Given the description of an element on the screen output the (x, y) to click on. 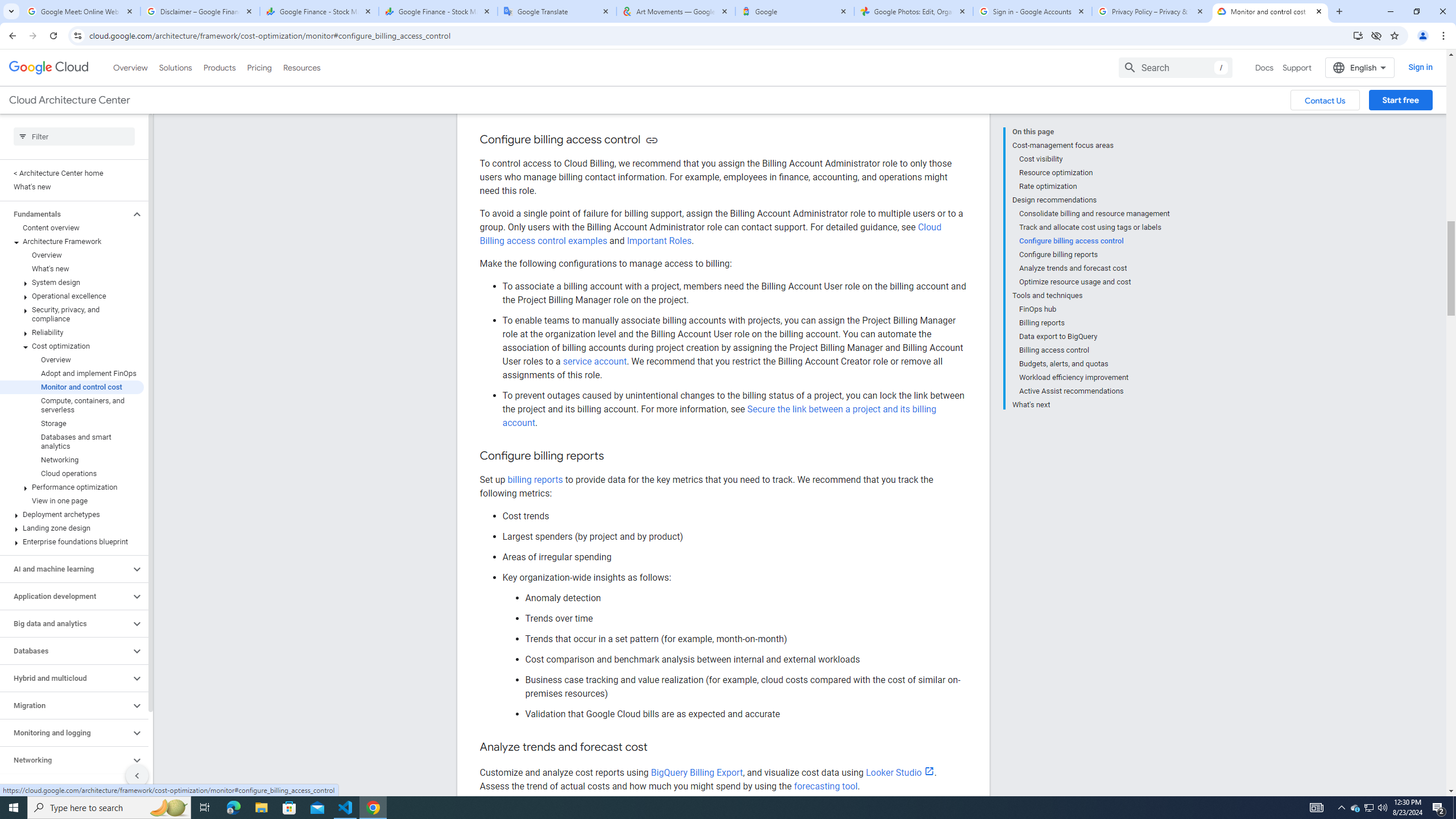
Active Assist recommendations (1094, 391)
Google Translate (556, 11)
Application development (64, 596)
FinOps hub (1094, 309)
Copy link to this section: Analyze trends and forecast cost (659, 747)
Looker Studio (900, 772)
Google Cloud (48, 67)
Analyze trends and forecast cost (1094, 268)
Hybrid and multicloud (64, 678)
Start free (1400, 100)
